Given the description of an element on the screen output the (x, y) to click on. 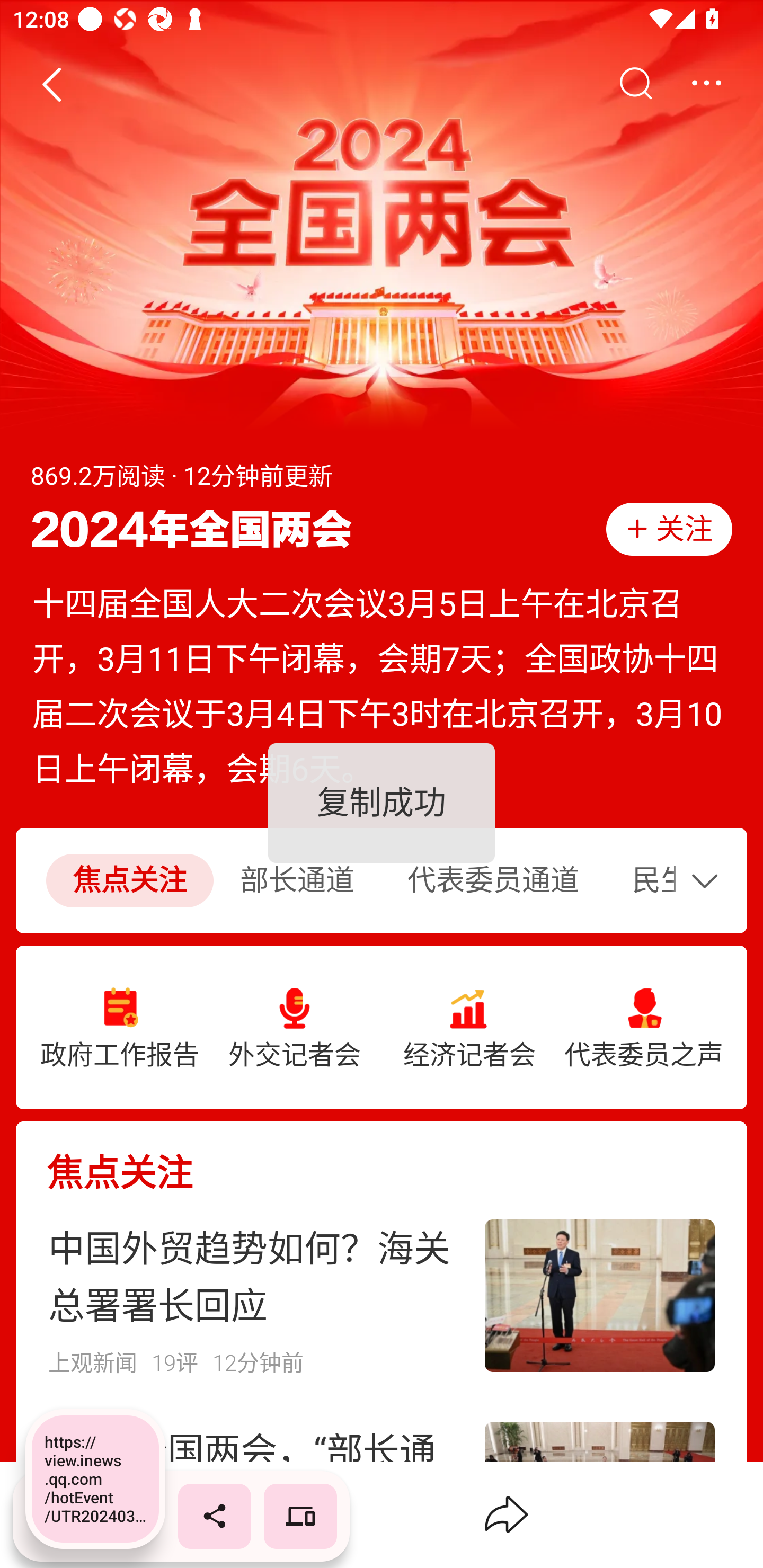
 (50, 83)
 (634, 83)
 (705, 83)
 关注 (668, 529)
焦点关注 (129, 880)
部长通道 (296, 880)
代表委员通道 (492, 880)
 (708, 880)
政府工作报告 (119, 1027)
外交记者会 (294, 1027)
经济记者会 (469, 1027)
代表委员之声 (643, 1027)
焦点关注 (381, 1157)
中国外贸趋势如何？海关总署署长回应 上观新闻 19评 12分钟前 (381, 1295)
分享  (506, 1514)
